Given the description of an element on the screen output the (x, y) to click on. 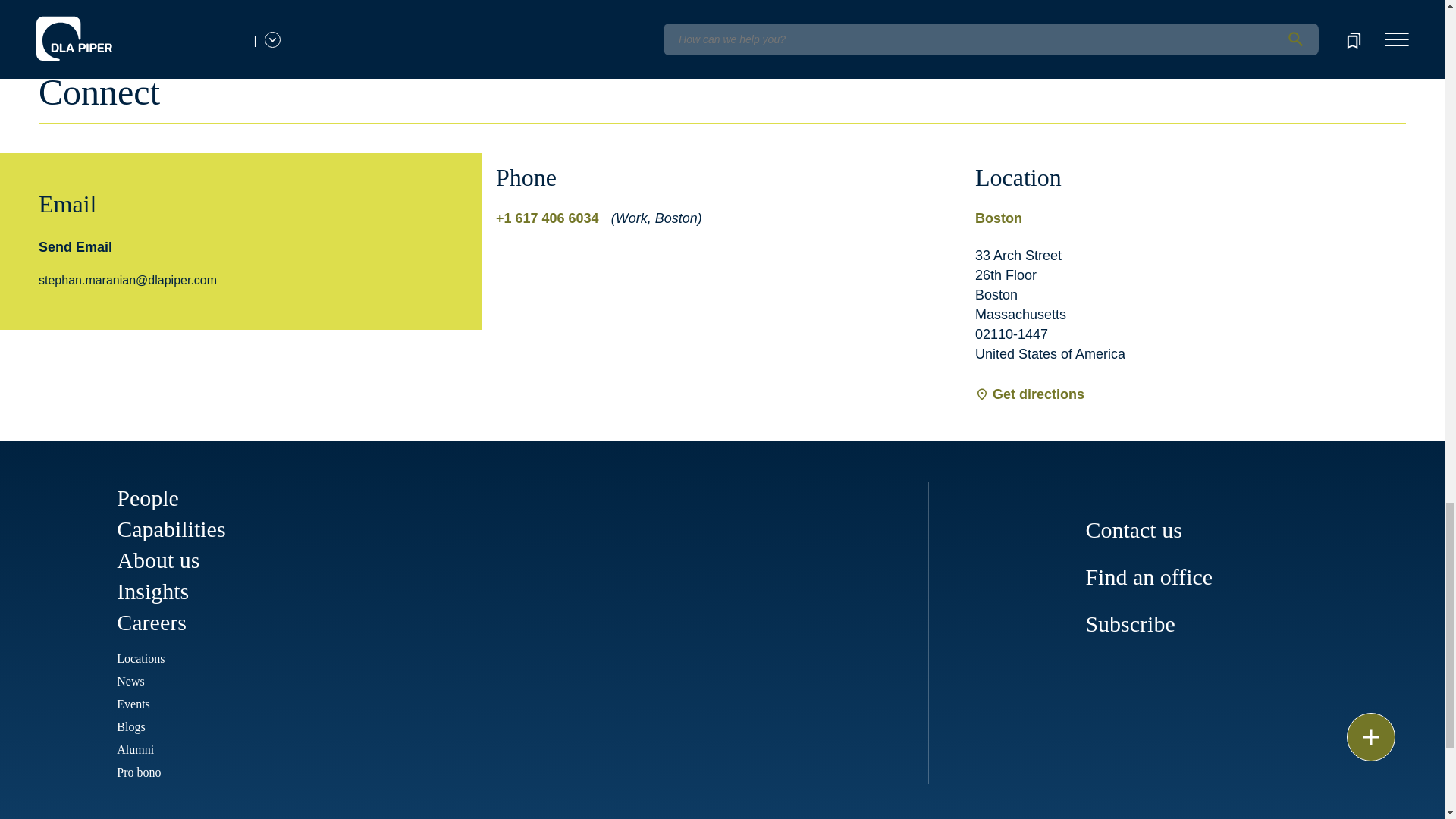
Send Email (75, 246)
